Given the description of an element on the screen output the (x, y) to click on. 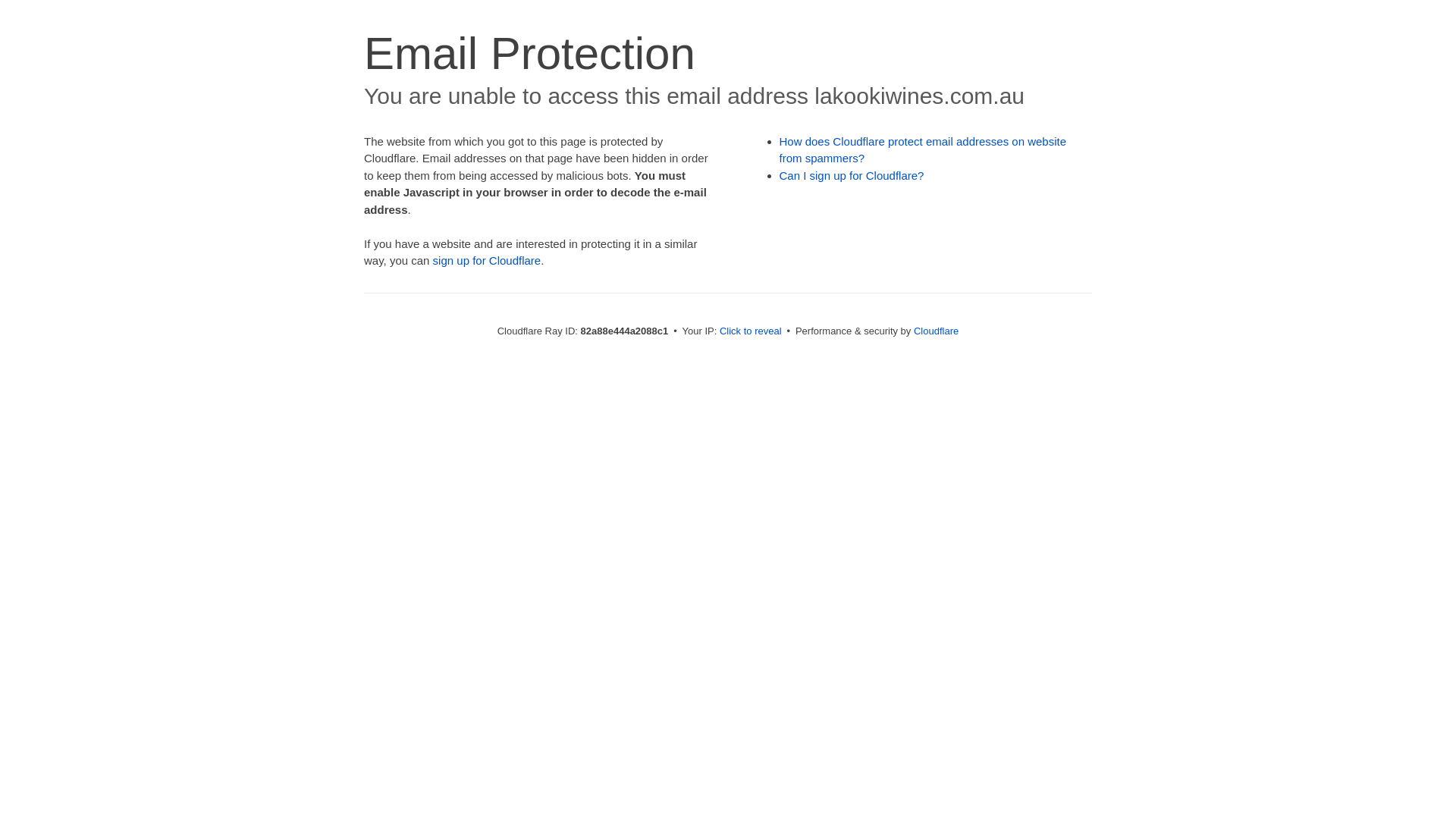
Click to reveal Element type: text (750, 330)
Can I sign up for Cloudflare? Element type: text (851, 175)
sign up for Cloudflare Element type: text (487, 260)
Cloudflare Element type: text (935, 330)
